Given the description of an element on the screen output the (x, y) to click on. 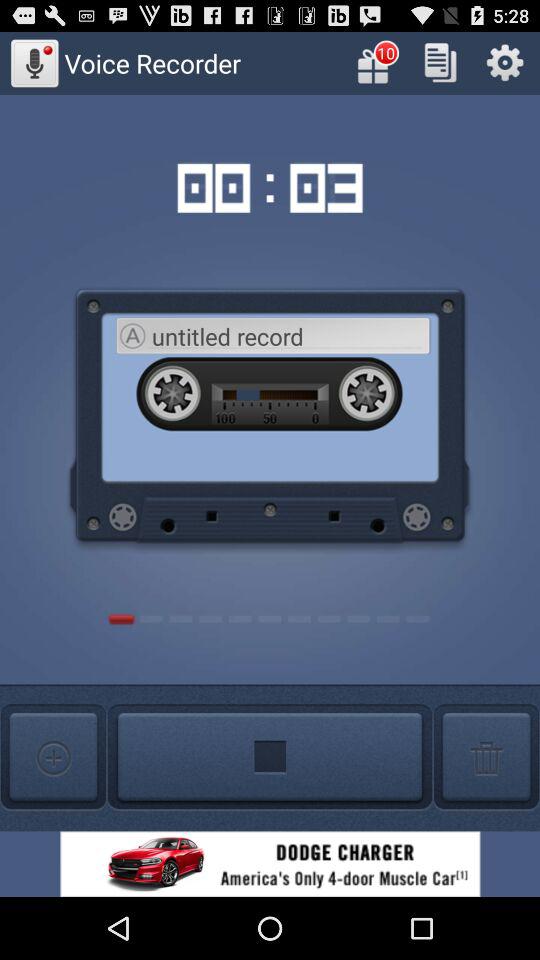
click the settings option (504, 62)
